Given the description of an element on the screen output the (x, y) to click on. 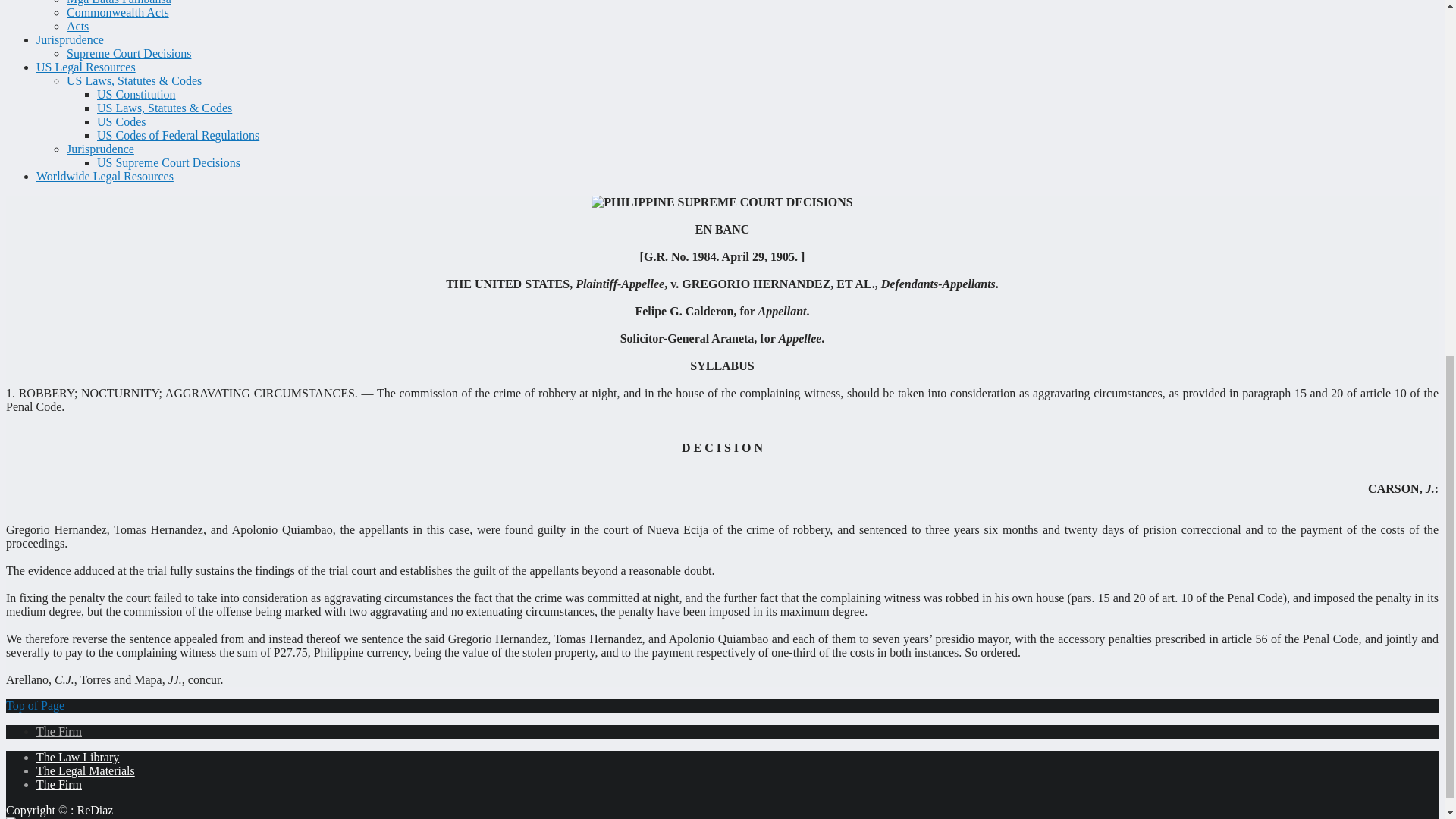
Supreme Court Decisions (128, 52)
Jurisprudence (69, 39)
Acts (77, 25)
US Codes (121, 121)
US Constitution (136, 93)
Mga Batas Pambansa (118, 2)
US Legal Resources (85, 66)
Commonwealth Acts (117, 11)
